Given the description of an element on the screen output the (x, y) to click on. 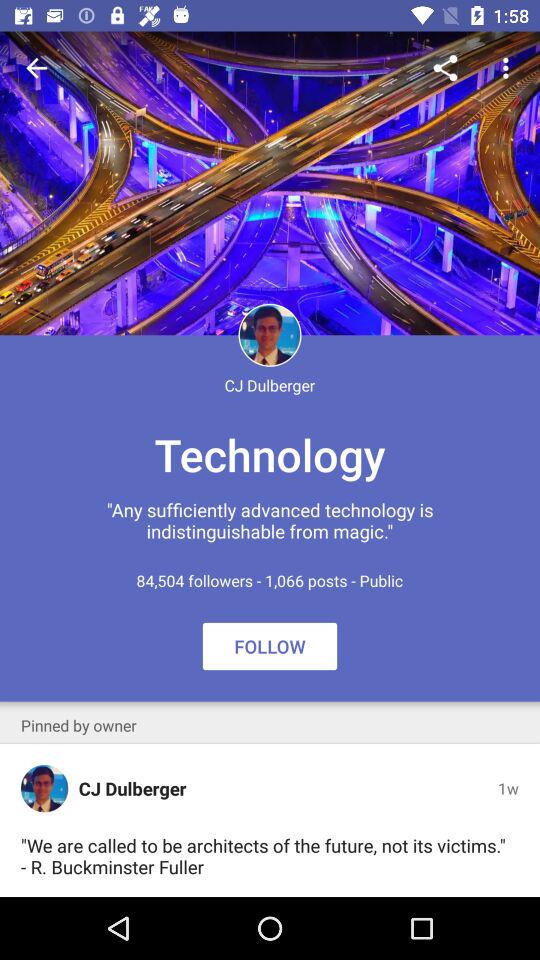
open the icon next to the cj dulberger icon (44, 788)
